Given the description of an element on the screen output the (x, y) to click on. 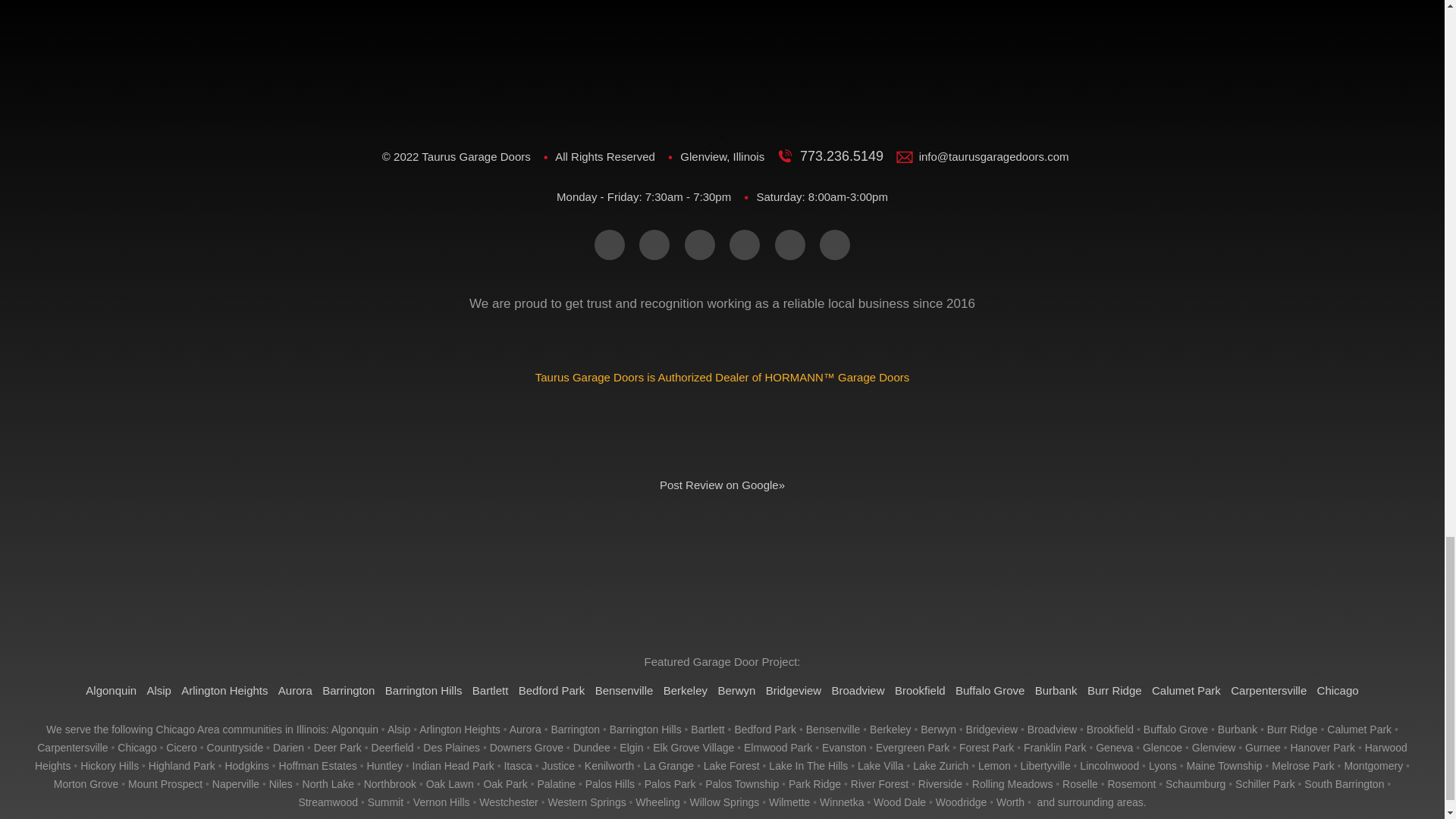
burr ridge, Illinois Garage Doors (1291, 729)
brookfield, Illinois Garage Doors (1110, 729)
aurora, Illinois Garage Doors (525, 729)
berwyn, Illinois Garage Doors (938, 729)
barrington, Illinois Garage Doors (574, 729)
arlington heights, Illinois Garage Doors (459, 729)
buffalo grove, Illinois Garage Doors (1175, 729)
bridgeview, Illinois Garage Doors (991, 729)
alsip, Illinois Garage Doors (398, 729)
broadview, Illinois Garage Doors (1052, 729)
barrington hills, Illinois Garage Doors (645, 729)
bartlett, Illinois Garage Doors (706, 729)
algonquin, Illinois Garage Doors (354, 729)
email (609, 245)
burbank, Illinois Garage Doors (1237, 729)
